Given the description of an element on the screen output the (x, y) to click on. 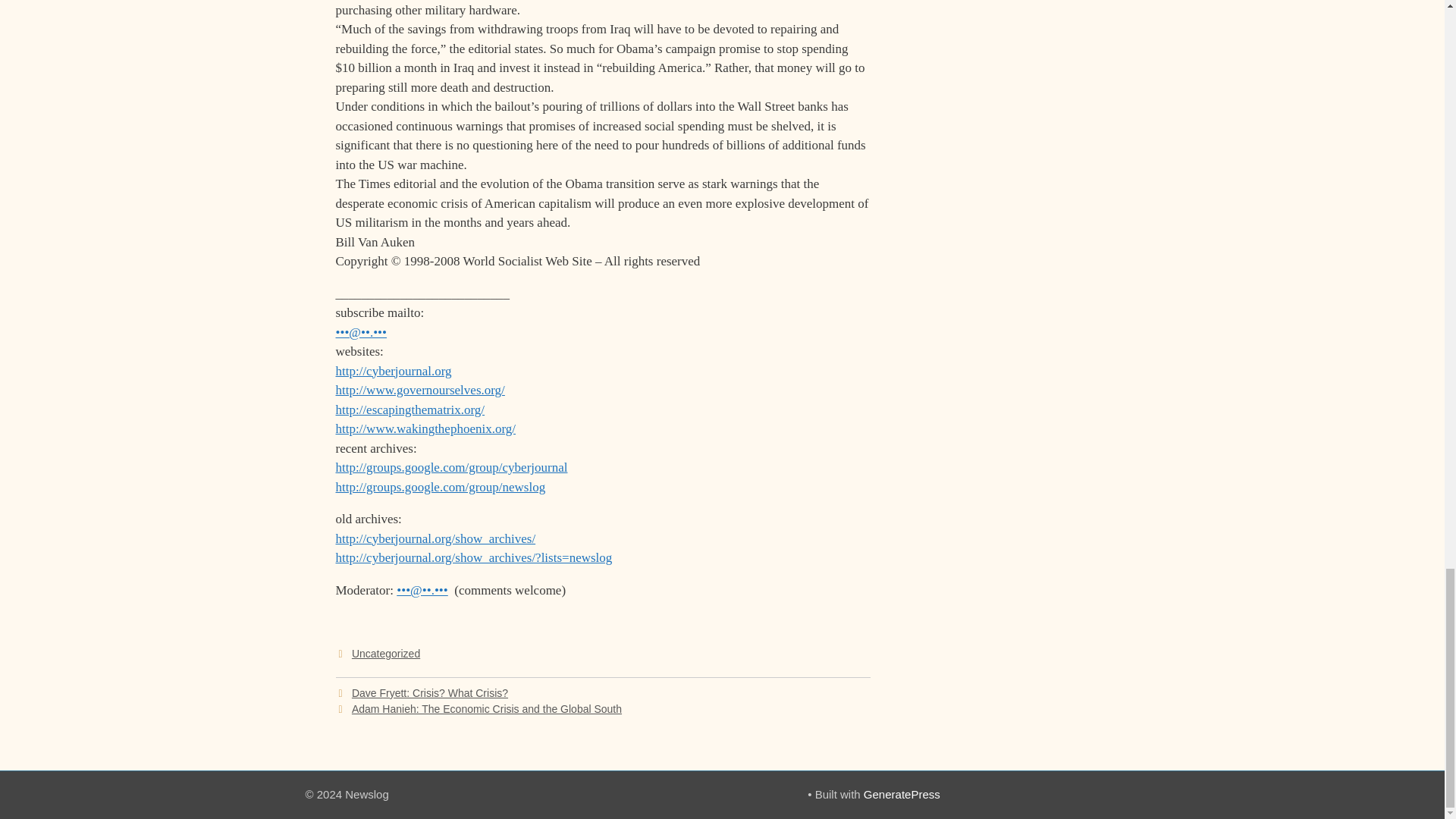
Adam Hanieh: The Economic Crisis and the Global South (486, 708)
GeneratePress (901, 793)
Uncategorized (386, 653)
Dave Fryett: Crisis? What Crisis? (430, 693)
